Given the description of an element on the screen output the (x, y) to click on. 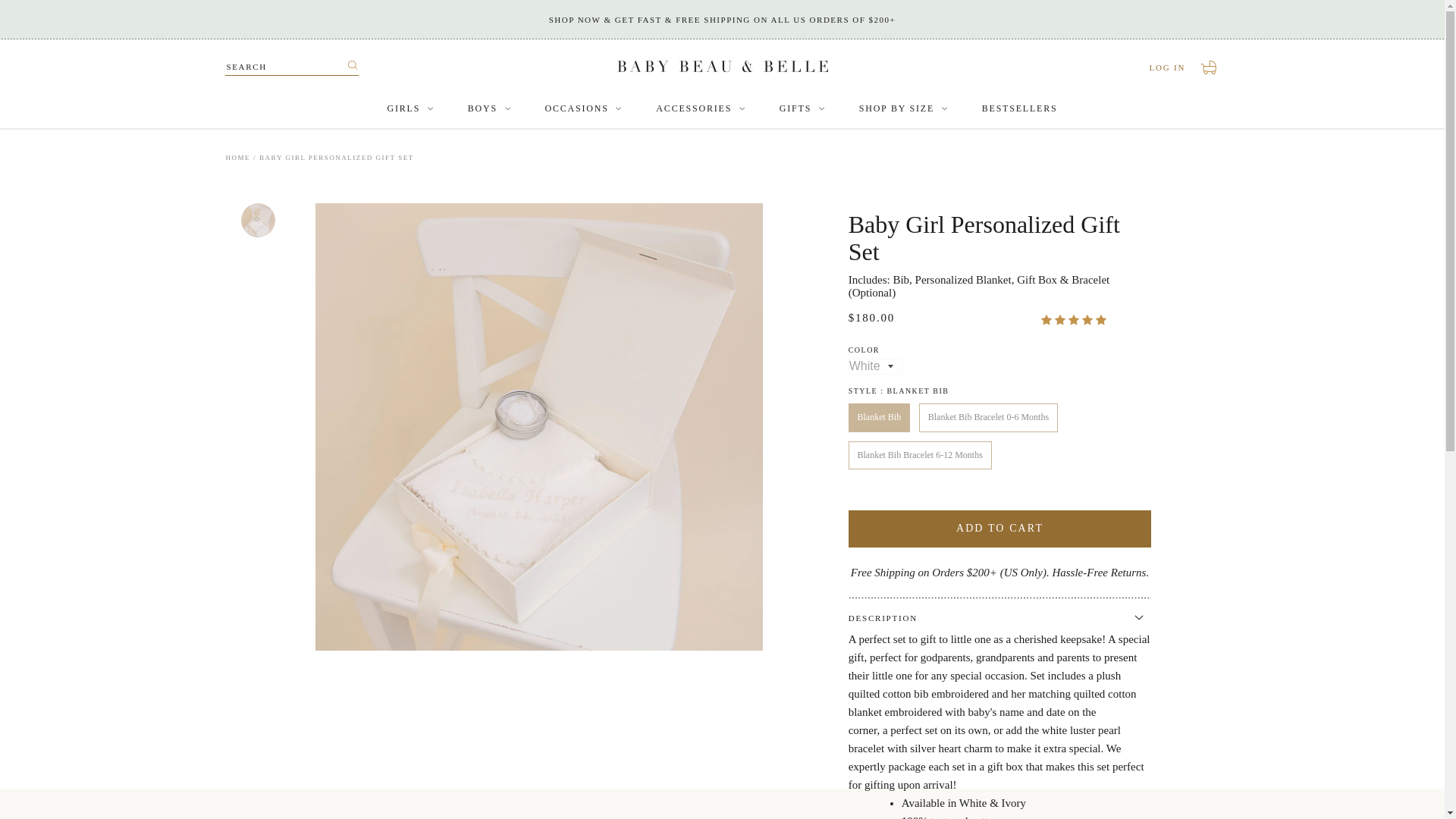
magnifying glass icon (1209, 67)
Home (352, 65)
GIRLS (237, 157)
BOYS (409, 109)
Search (489, 109)
LOG IN (352, 67)
